Given the description of an element on the screen output the (x, y) to click on. 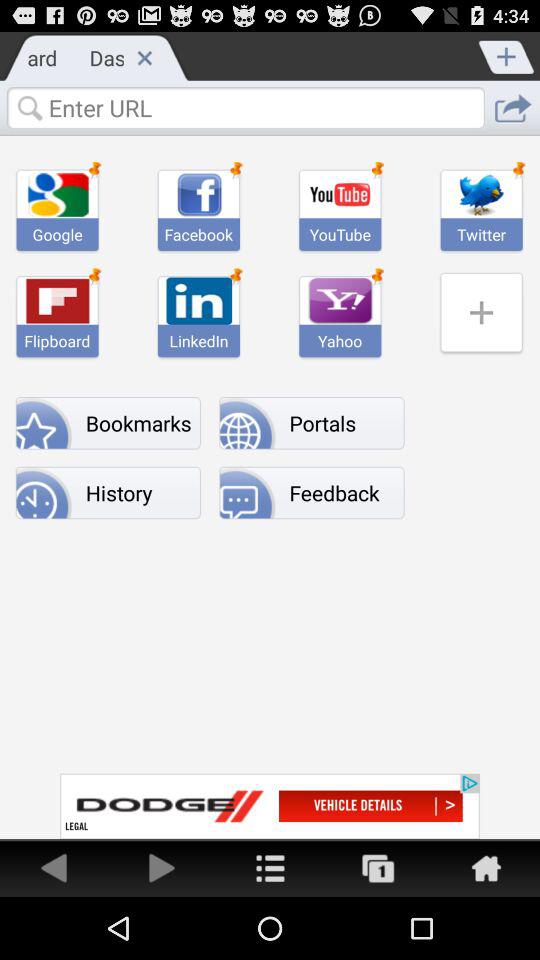
button to go to other window (378, 867)
